Given the description of an element on the screen output the (x, y) to click on. 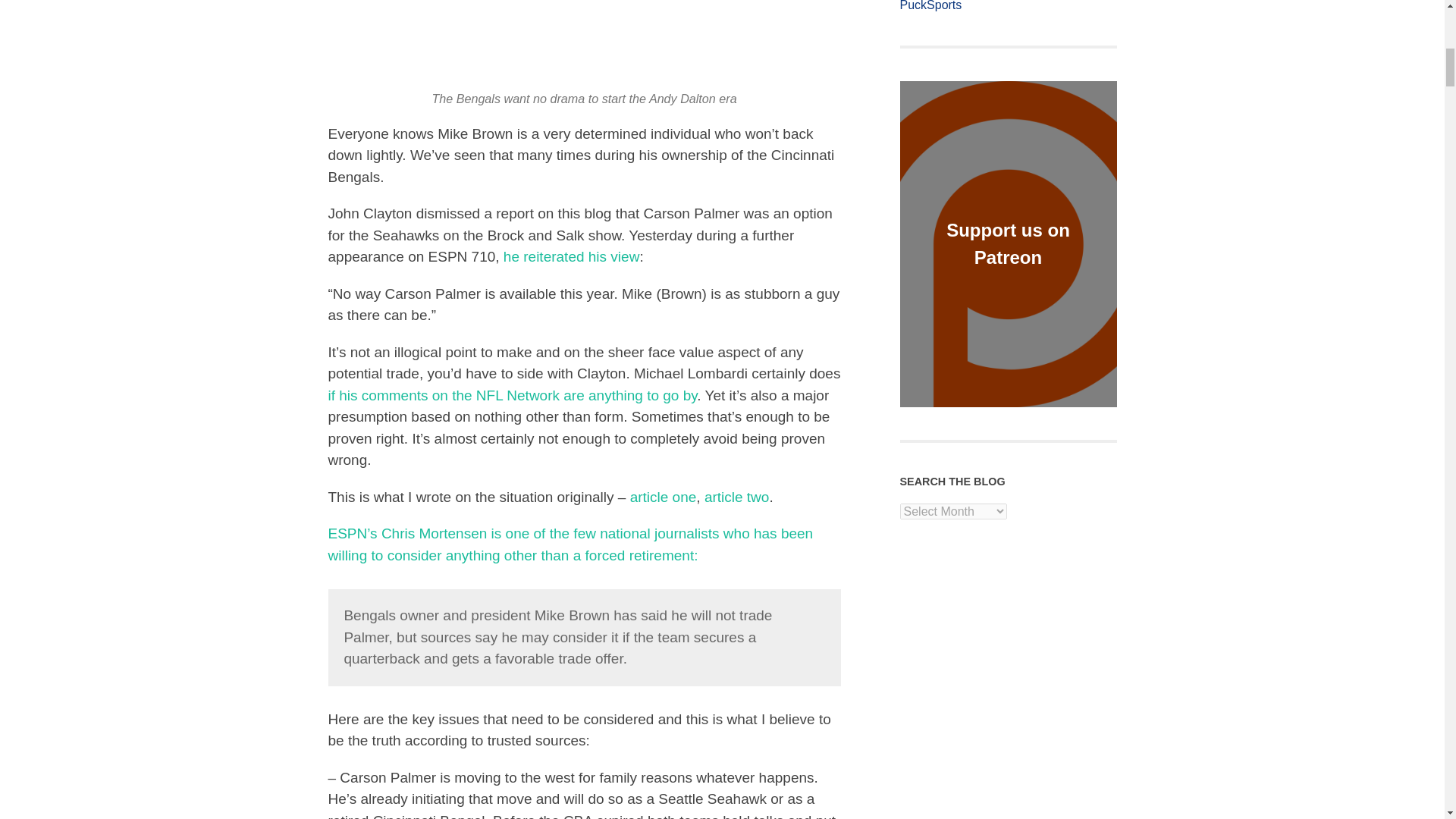
he reiterated his view (571, 256)
article two (737, 496)
article one (663, 496)
Andy Dalton (580, 41)
if his comments on the NFL Network are anything to go by (512, 395)
